Given the description of an element on the screen output the (x, y) to click on. 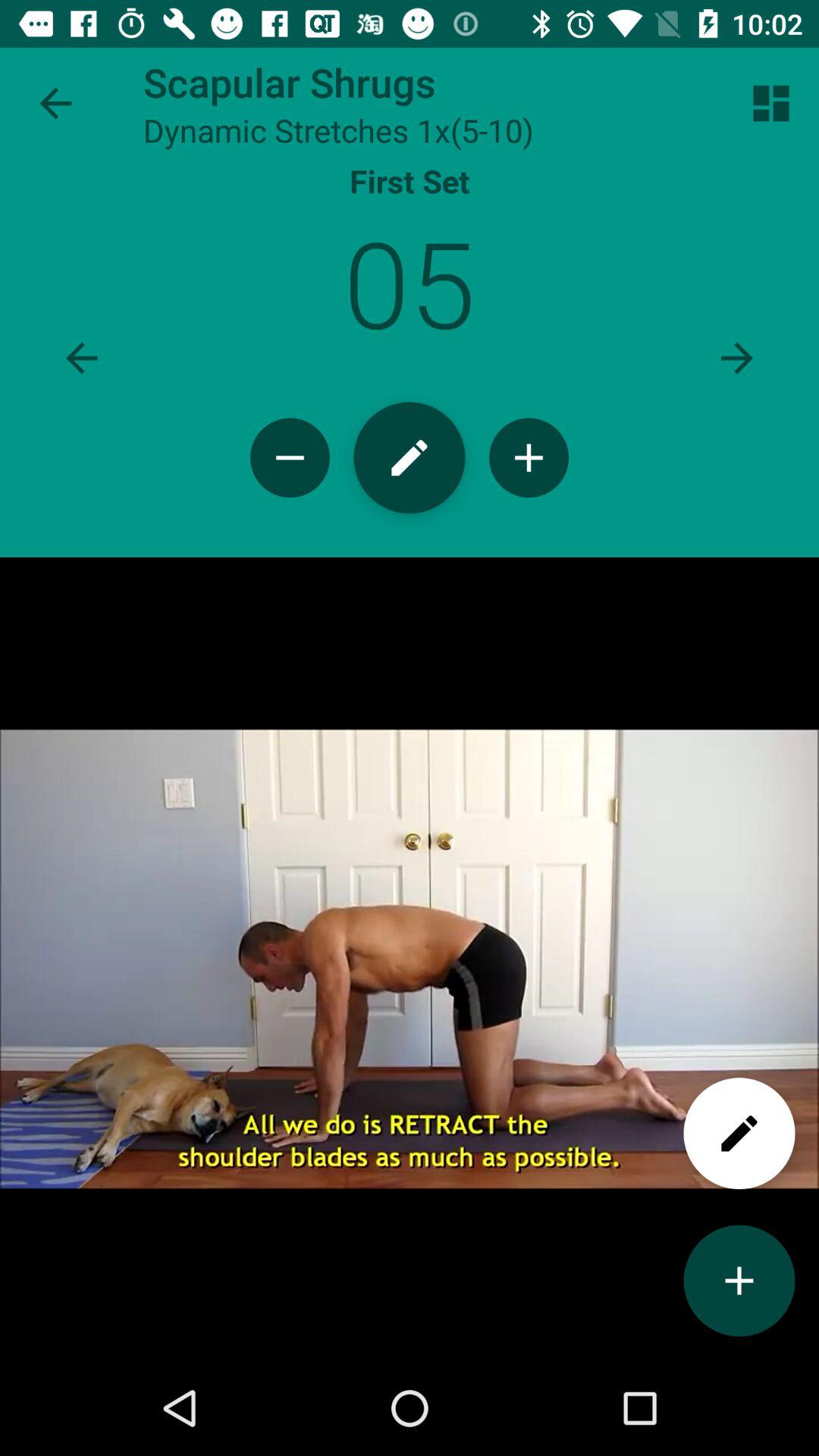
compose the article (409, 457)
